Given the description of an element on the screen output the (x, y) to click on. 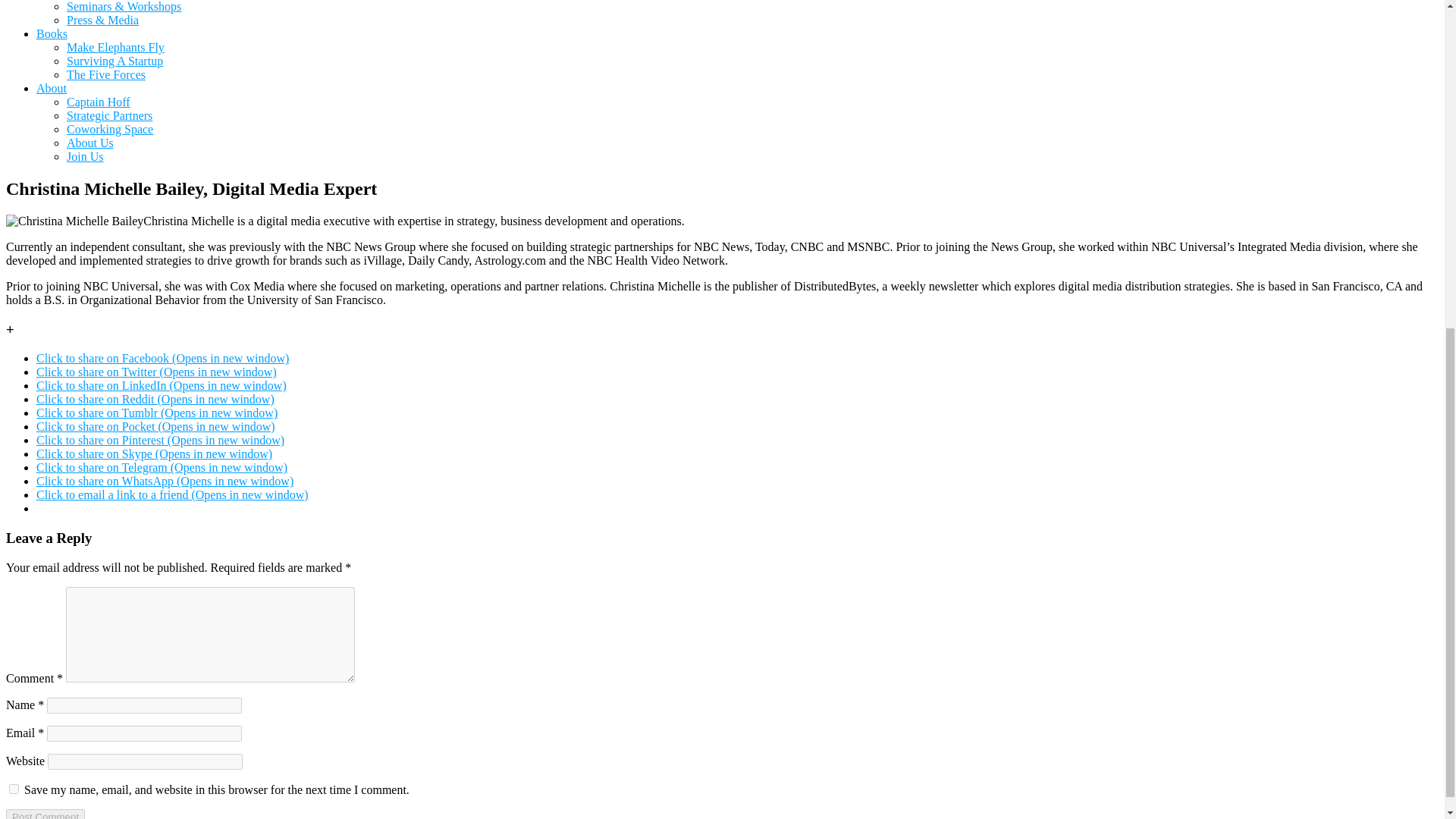
Click to share on Telegram (161, 467)
Click to share on Facebook (162, 358)
Click to share on Pocket (155, 426)
Click to share on LinkedIn (161, 385)
Click to share on Tumblr (157, 412)
Click to email a link to a friend (172, 494)
Click to share on Reddit (155, 399)
yes (13, 788)
Click to share on Skype (154, 453)
Click to share on Pinterest (159, 440)
